Given the description of an element on the screen output the (x, y) to click on. 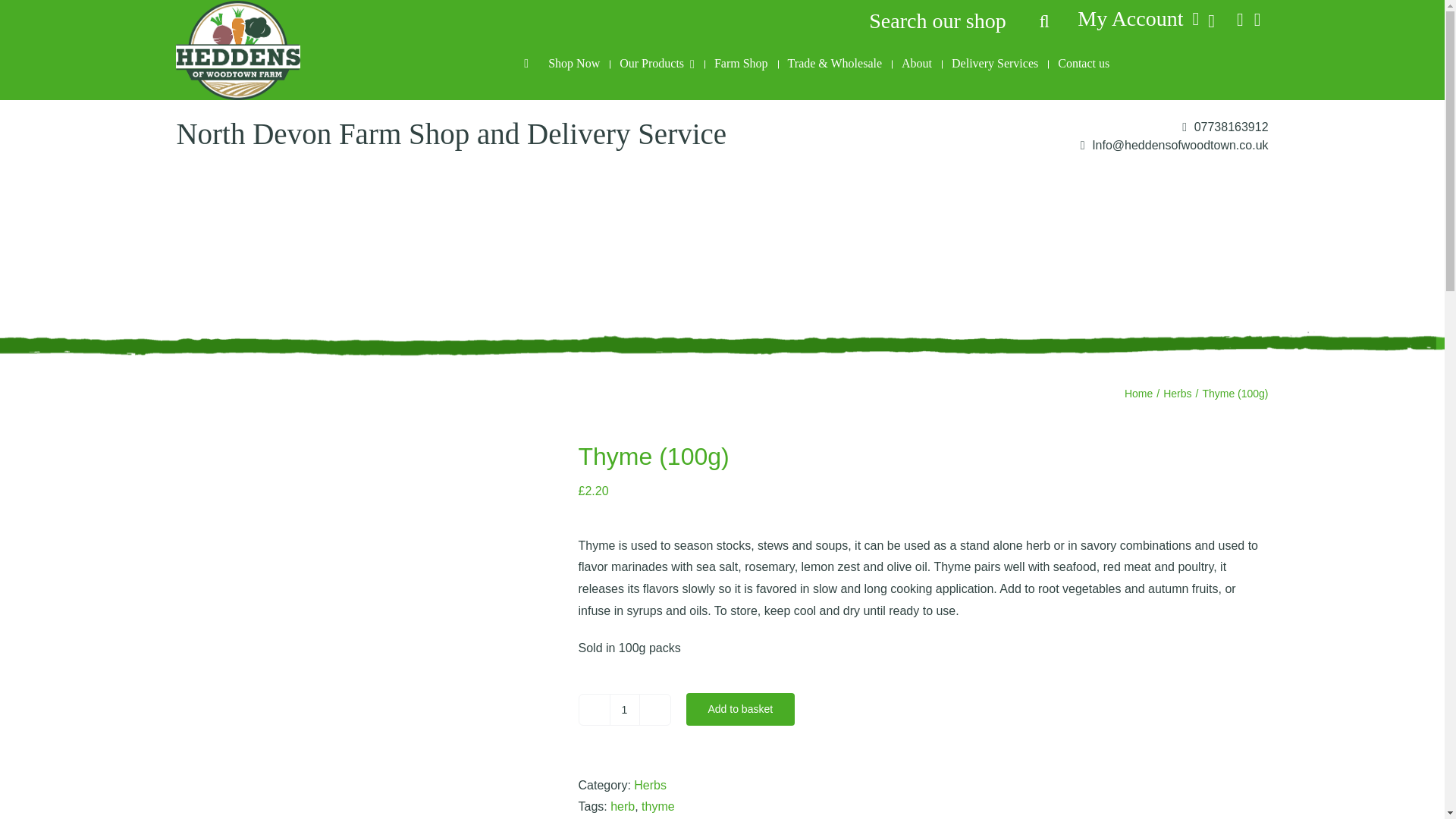
Delivery Services (995, 64)
1 (625, 709)
About (916, 64)
Shop Now (574, 64)
07738163912 (1225, 126)
My Account (1142, 18)
Farm Shop (740, 64)
Log In (1165, 188)
Our Products (657, 64)
Contact us (1083, 64)
